Given the description of an element on the screen output the (x, y) to click on. 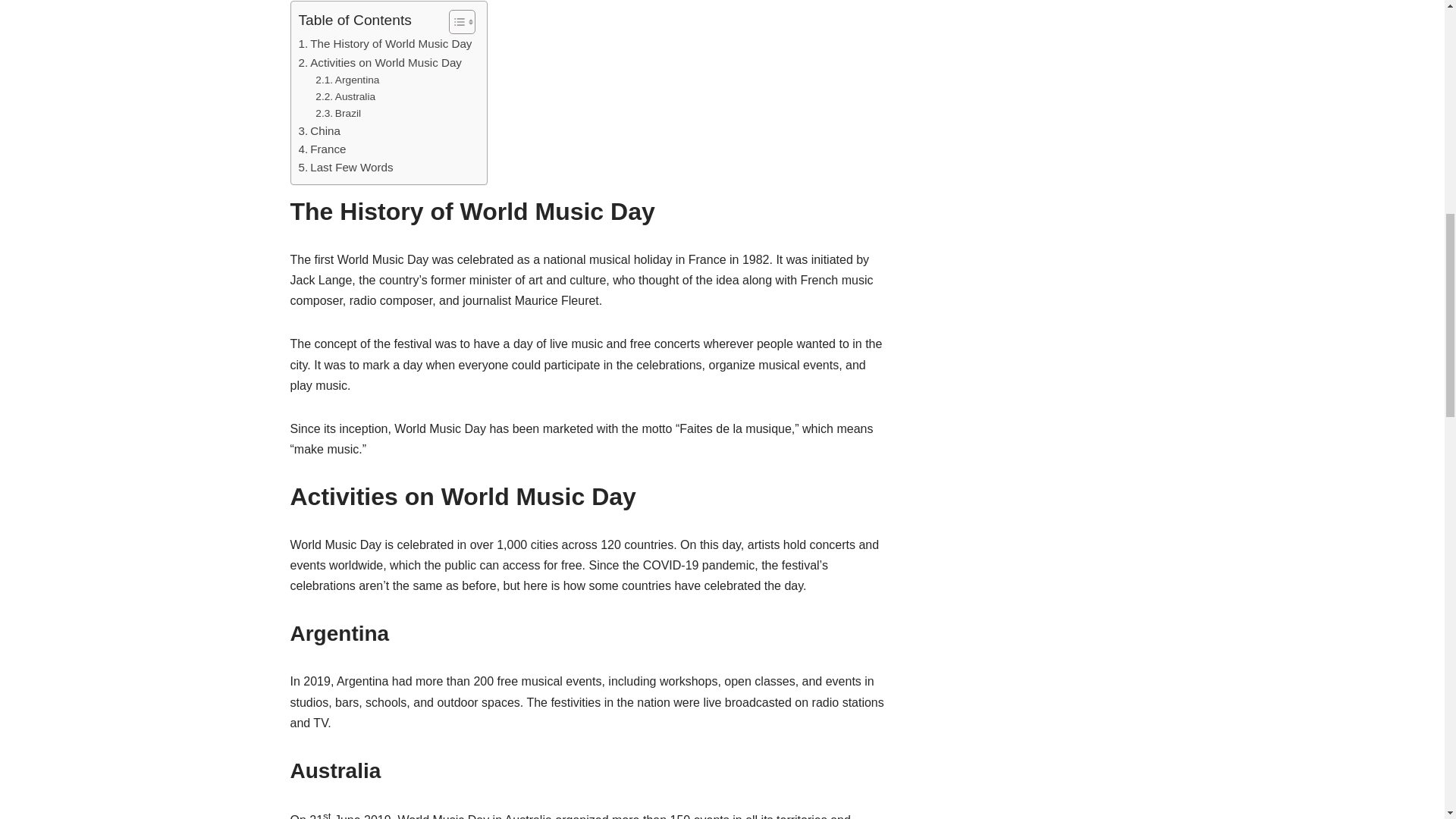
China (319, 130)
Australia (345, 96)
Activities on World Music Day (379, 63)
Last Few Words (345, 167)
China (319, 130)
Last Few Words (345, 167)
The History of World Music Day (384, 44)
Argentina (346, 80)
Brazil (338, 113)
France (322, 149)
Argentina (346, 80)
The History of World Music Day (384, 44)
Brazil (338, 113)
Activities on World Music Day (379, 63)
Australia (345, 96)
